Given the description of an element on the screen output the (x, y) to click on. 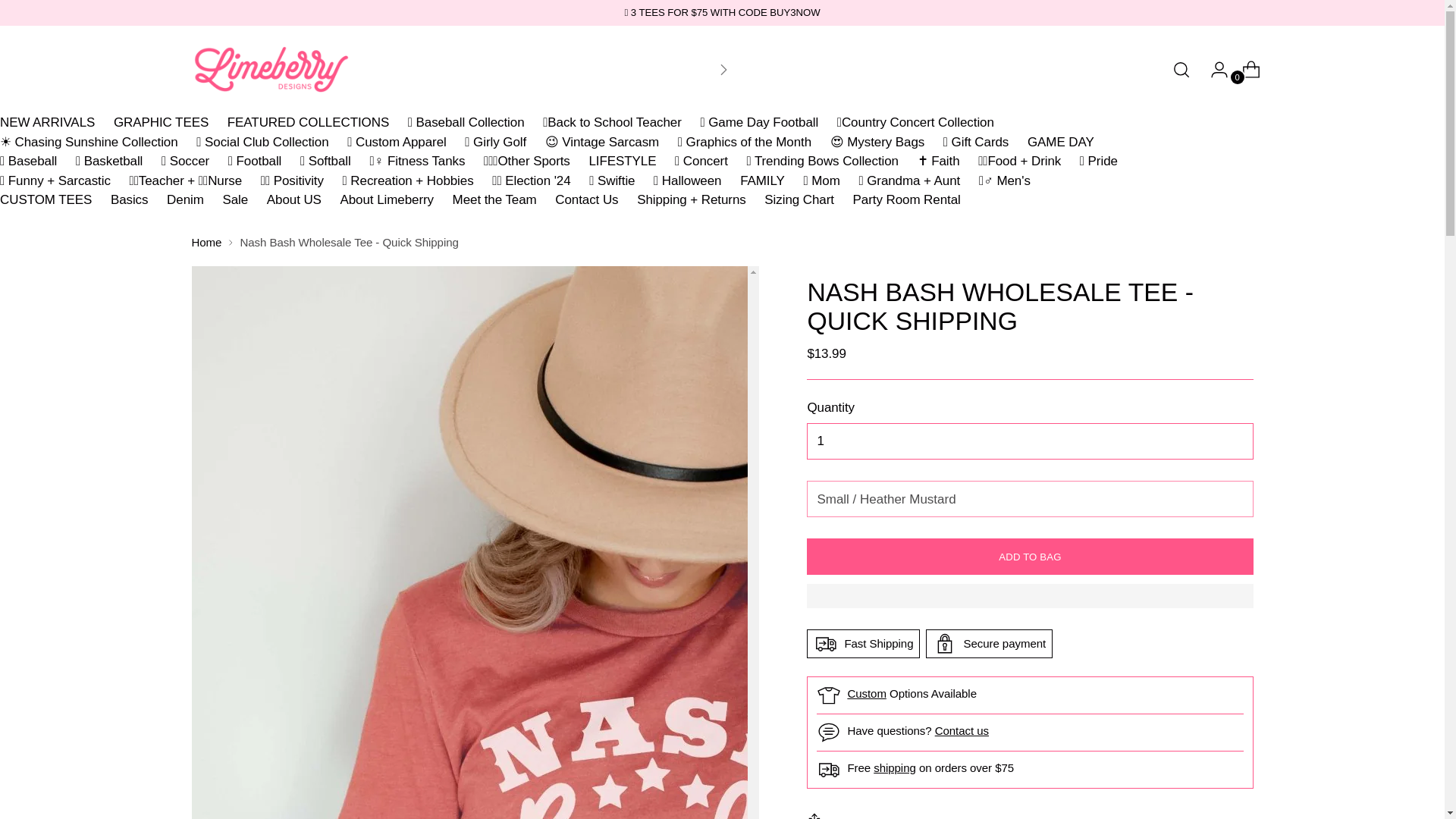
Next (723, 69)
1 (1029, 441)
Custom Apparel (866, 693)
Contact Us (961, 730)
